Given the description of an element on the screen output the (x, y) to click on. 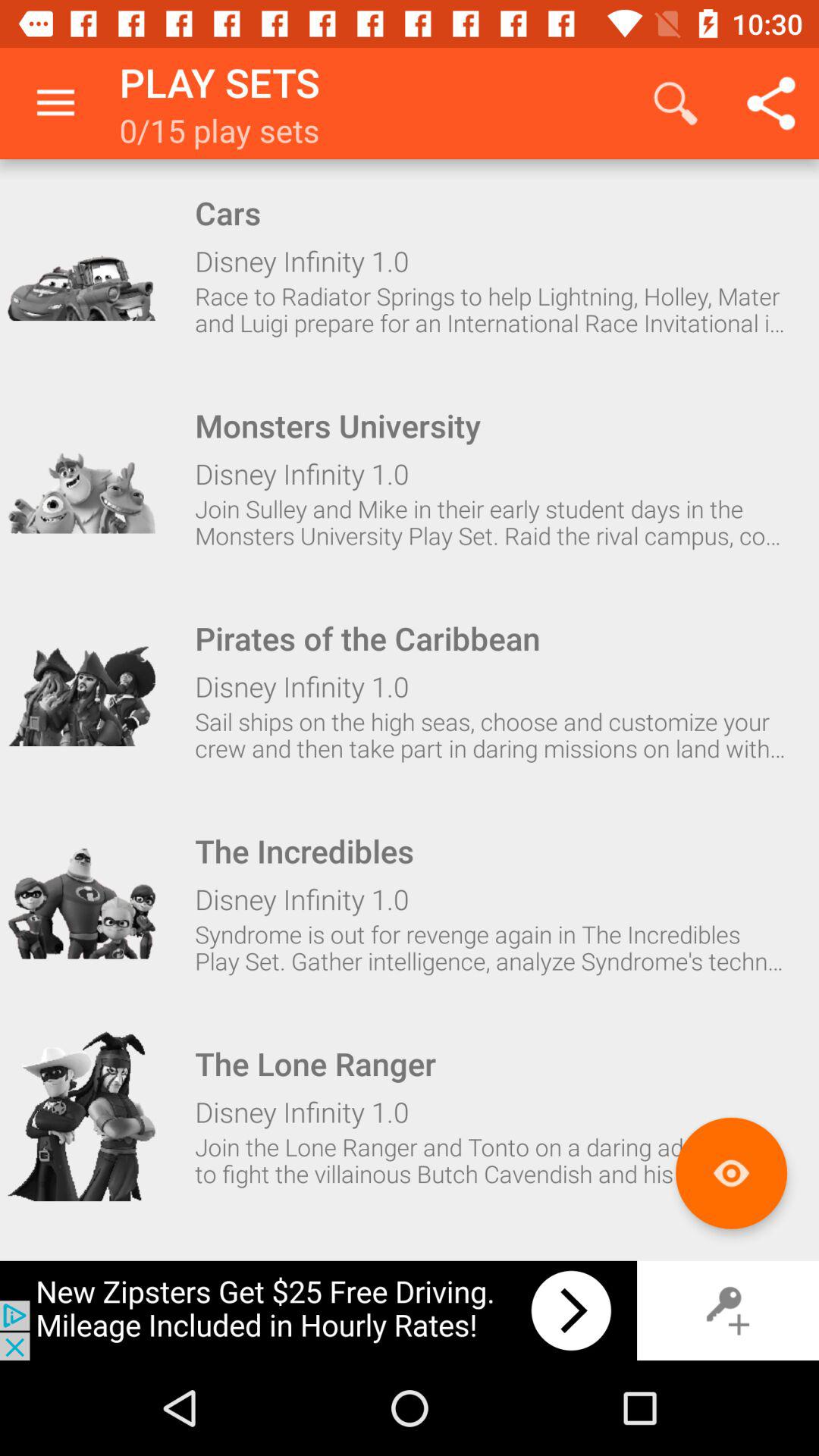
open advertisement (318, 1310)
